Given the description of an element on the screen output the (x, y) to click on. 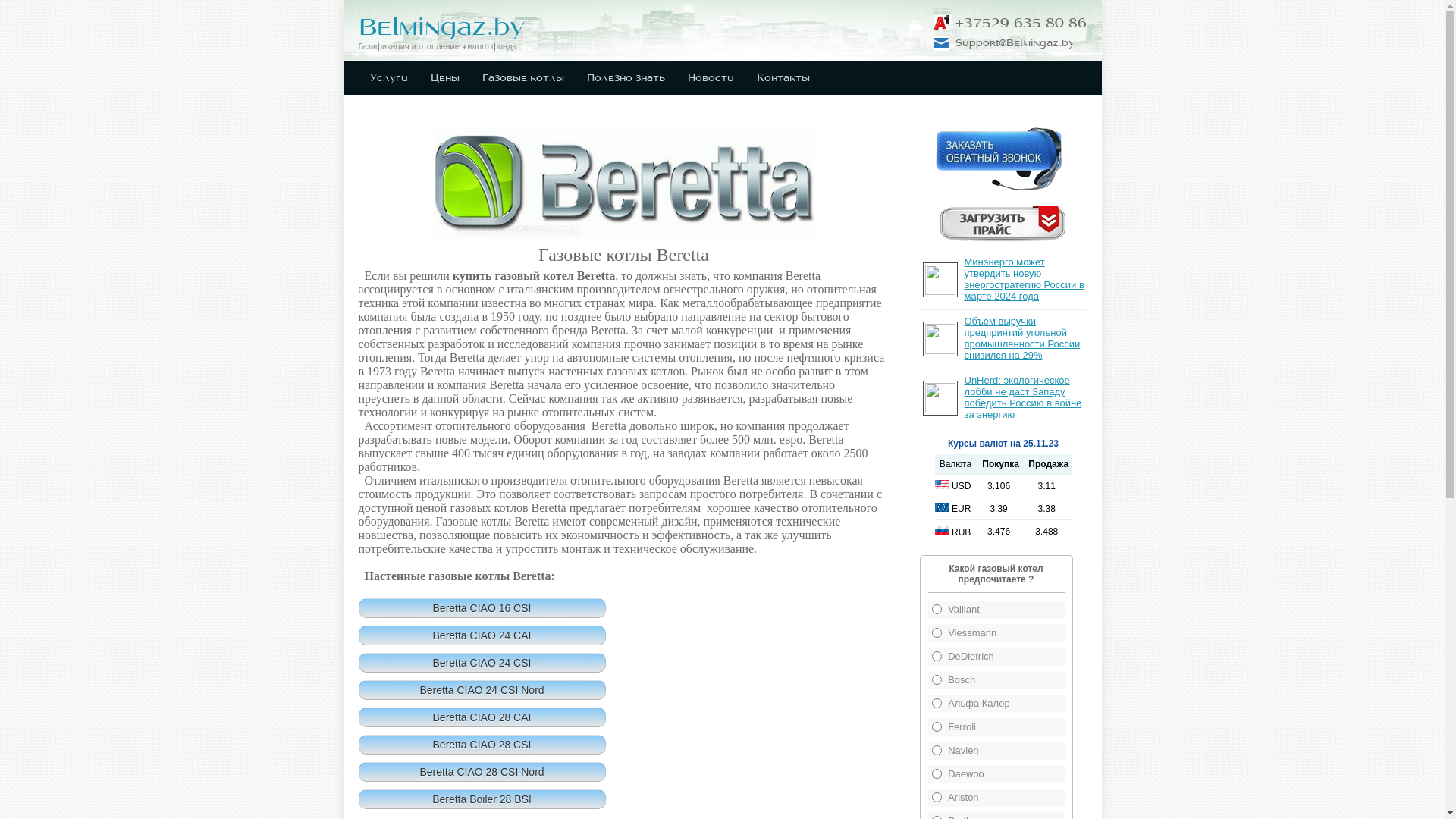
Beretta CIAO 24 CSI Nord Element type: text (481, 689)
Beretta CIAO 16 CSI Element type: text (481, 608)
Belmingaz.by Element type: text (440, 26)
Beretta CIAO 28 CAI Element type: text (481, 717)
Beretta CIAO 28 CSI Element type: text (481, 744)
Beretta CIAO 28 CSI Nord Element type: text (481, 771)
Beretta CIAO 24 CSI Element type: text (481, 662)
Beretta Boiler 28 BSI Element type: text (481, 799)
Beretta CIAO 24 CAI Element type: text (481, 635)
